Given the description of an element on the screen output the (x, y) to click on. 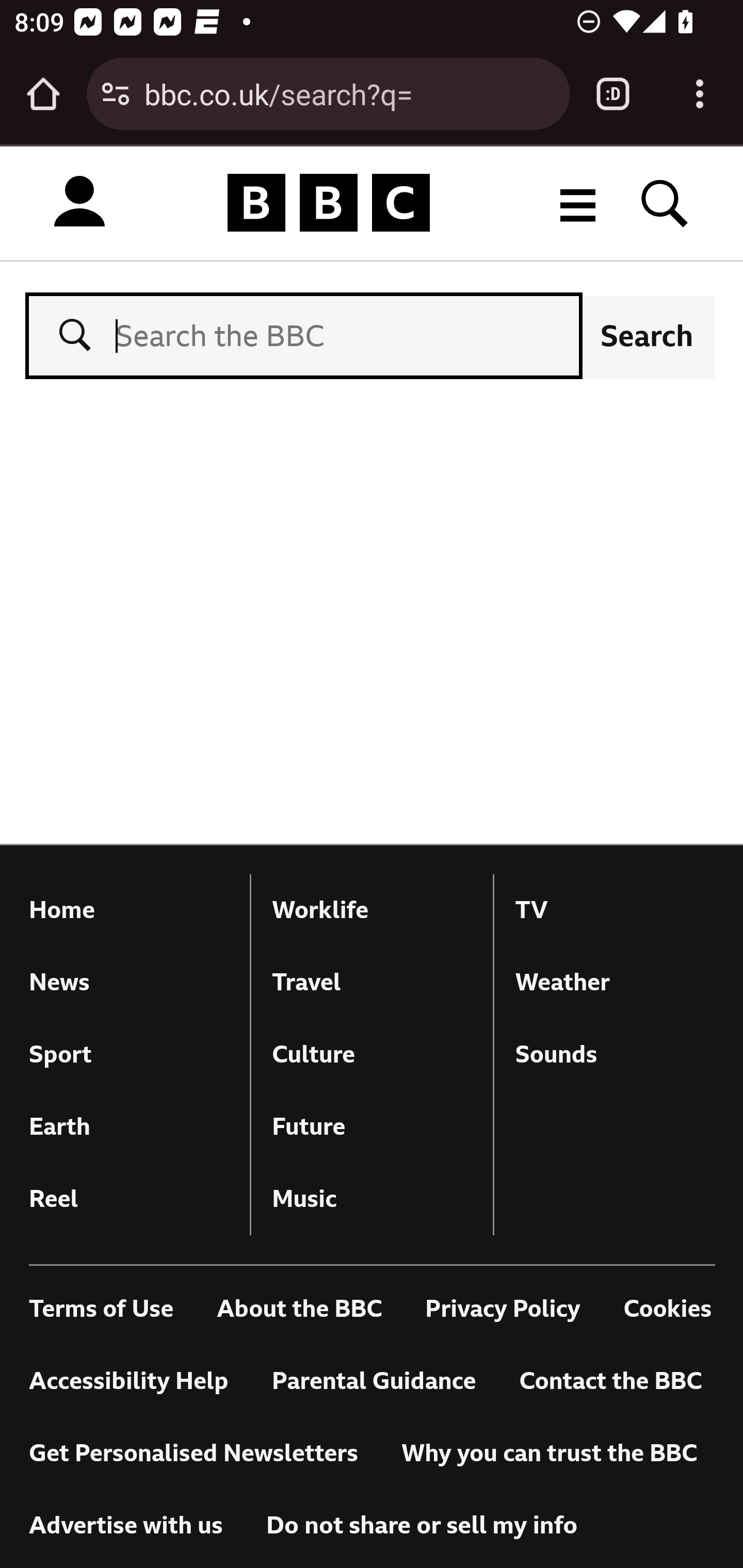
Open the home page (43, 93)
Connection is secure (115, 93)
Switch or close tabs (612, 93)
Customize and control Google Chrome (699, 93)
bbc.co.uk/search?q= (349, 92)
Sign in (79, 202)
BBC Homepage (329, 202)
More menu (578, 202)
Search BBC (665, 202)
Search (647, 335)
Home (128, 910)
Worklife (372, 910)
TV (615, 910)
News (128, 982)
Travel (372, 982)
Weather (615, 982)
Sport (128, 1054)
Culture (372, 1054)
Sounds (615, 1054)
Earth (128, 1126)
Future (372, 1126)
Reel (128, 1198)
Music (372, 1198)
Terms of Use (101, 1309)
About the BBC (299, 1309)
Privacy Policy (502, 1309)
Cookies (667, 1309)
Accessibility Help (129, 1382)
Parental Guidance (373, 1382)
Contact the BBC (609, 1382)
Get Personalised Newsletters (193, 1454)
Why you can trust the BBC (548, 1454)
Advertise with us (126, 1526)
Do not share or sell my info (421, 1525)
